Given the description of an element on the screen output the (x, y) to click on. 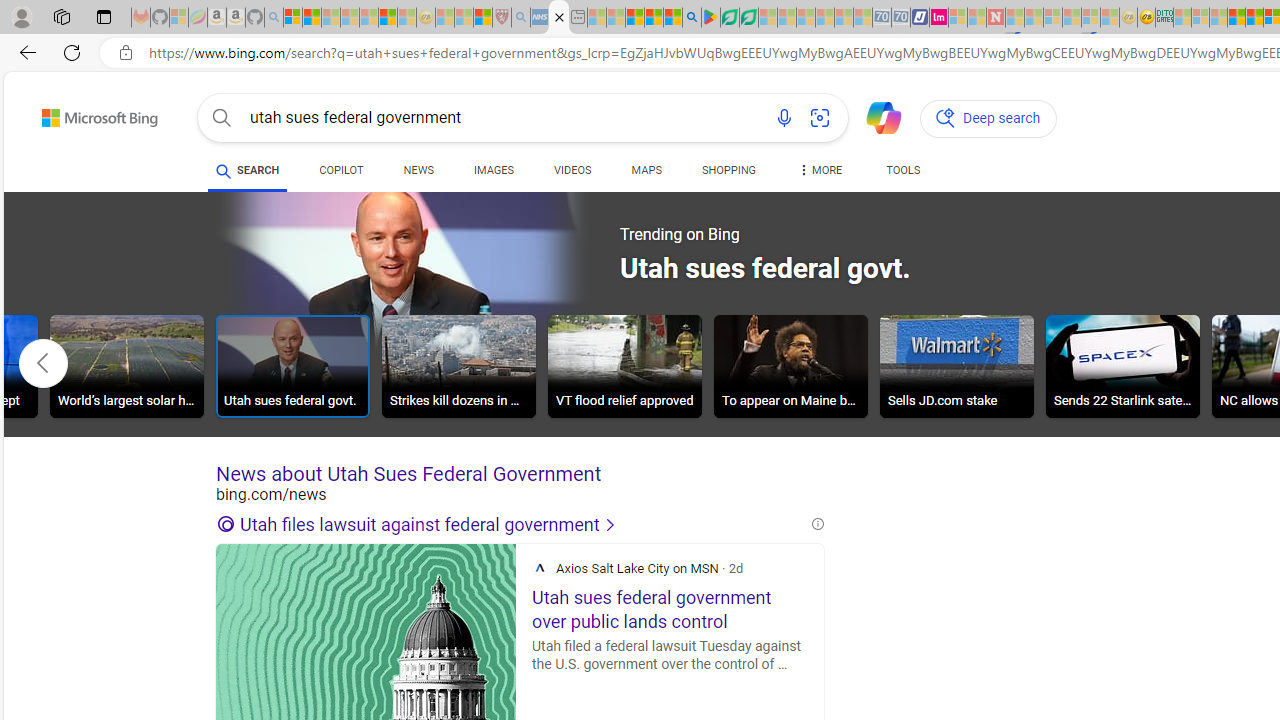
TOOLS (903, 173)
VT flood relief approved (624, 369)
Local - MSN (482, 17)
Back to Bing search (87, 113)
MORE (819, 173)
Dropdown Menu (819, 170)
